Given the description of an element on the screen output the (x, y) to click on. 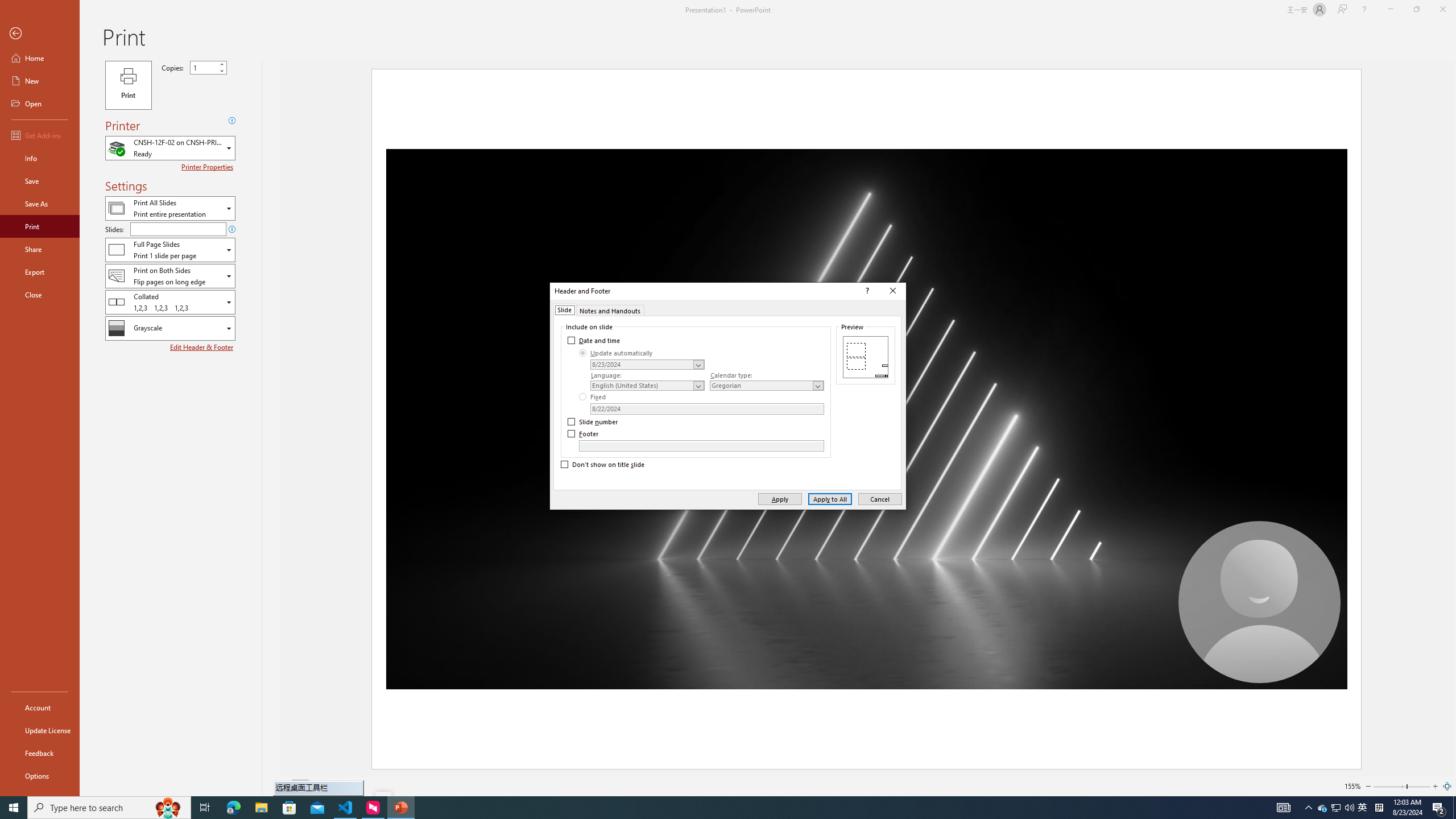
Footer (583, 433)
Calendar type (767, 385)
Color/Grayscale (169, 328)
Slide number (592, 421)
Print (40, 225)
